Given the description of an element on the screen output the (x, y) to click on. 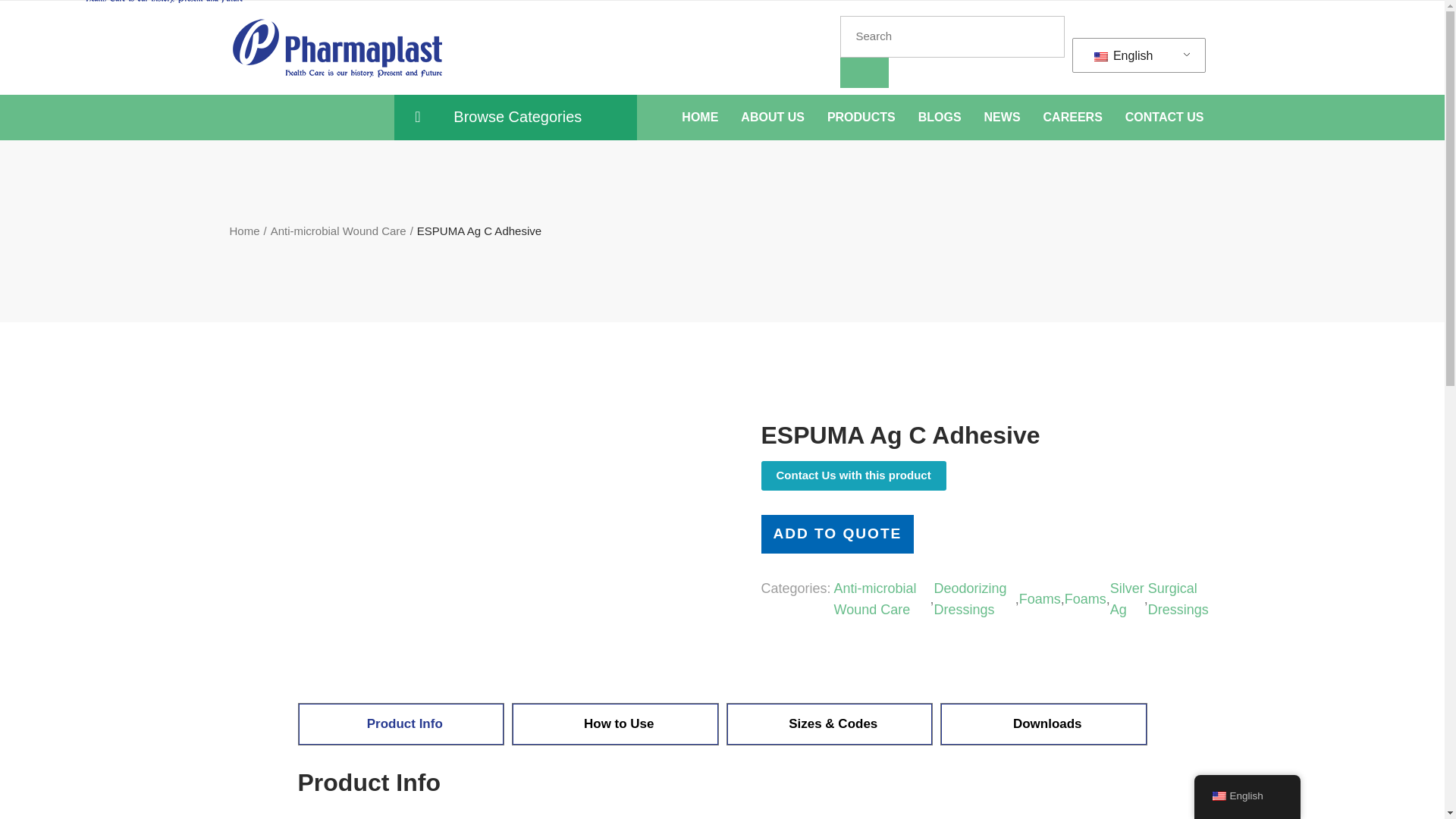
English (1099, 56)
CONTACT US (1164, 117)
ABOUT US (773, 117)
English (1136, 55)
BLOGS (939, 117)
English (1136, 55)
PRODUCTS (861, 117)
CAREERS (1072, 117)
